Given the description of an element on the screen output the (x, y) to click on. 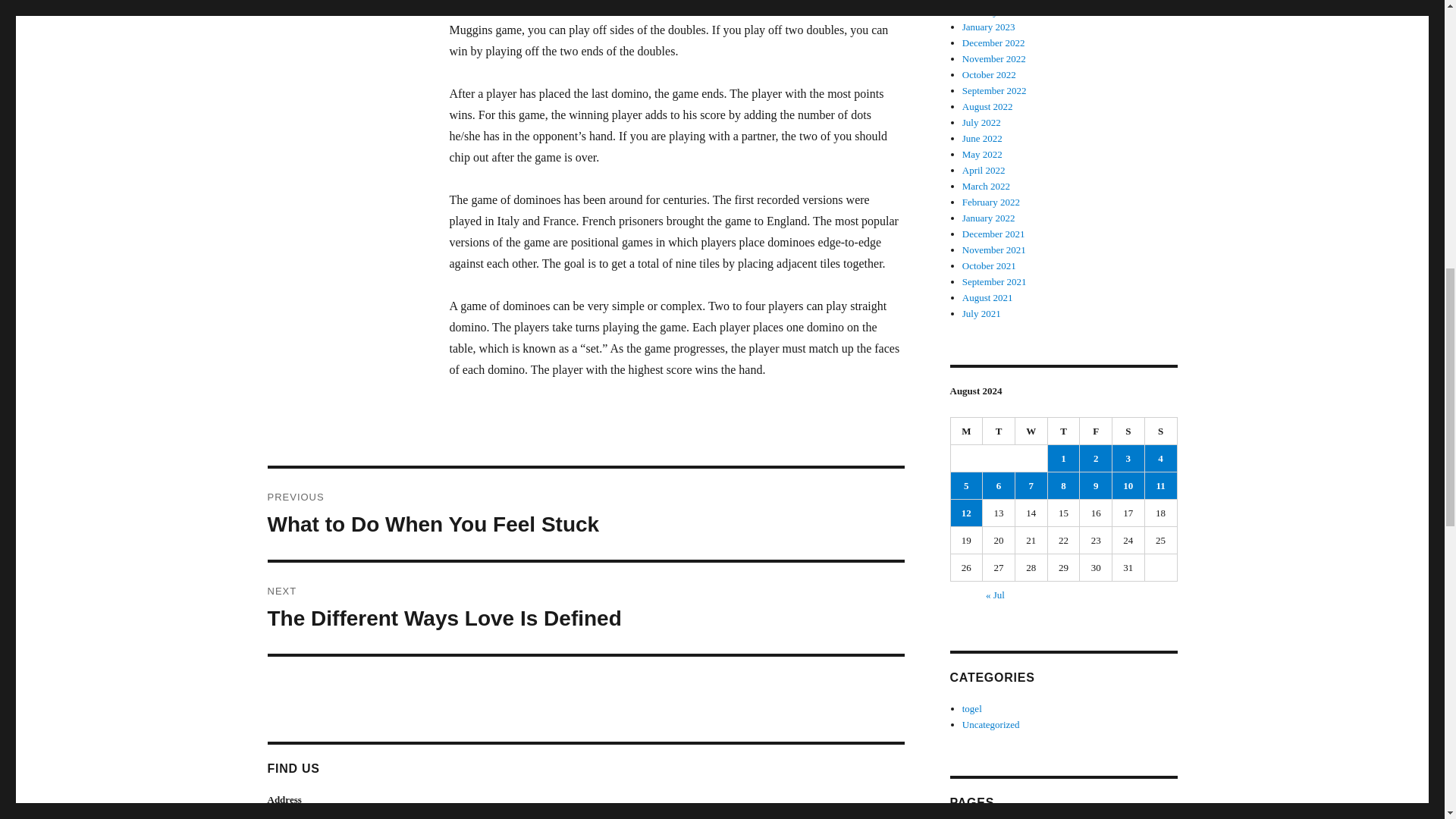
Wednesday (1031, 431)
Monday (967, 431)
Sunday (1160, 431)
March 2023 (986, 0)
Saturday (1128, 431)
Friday (585, 513)
Thursday (1096, 431)
Tuesday (585, 607)
